Given the description of an element on the screen output the (x, y) to click on. 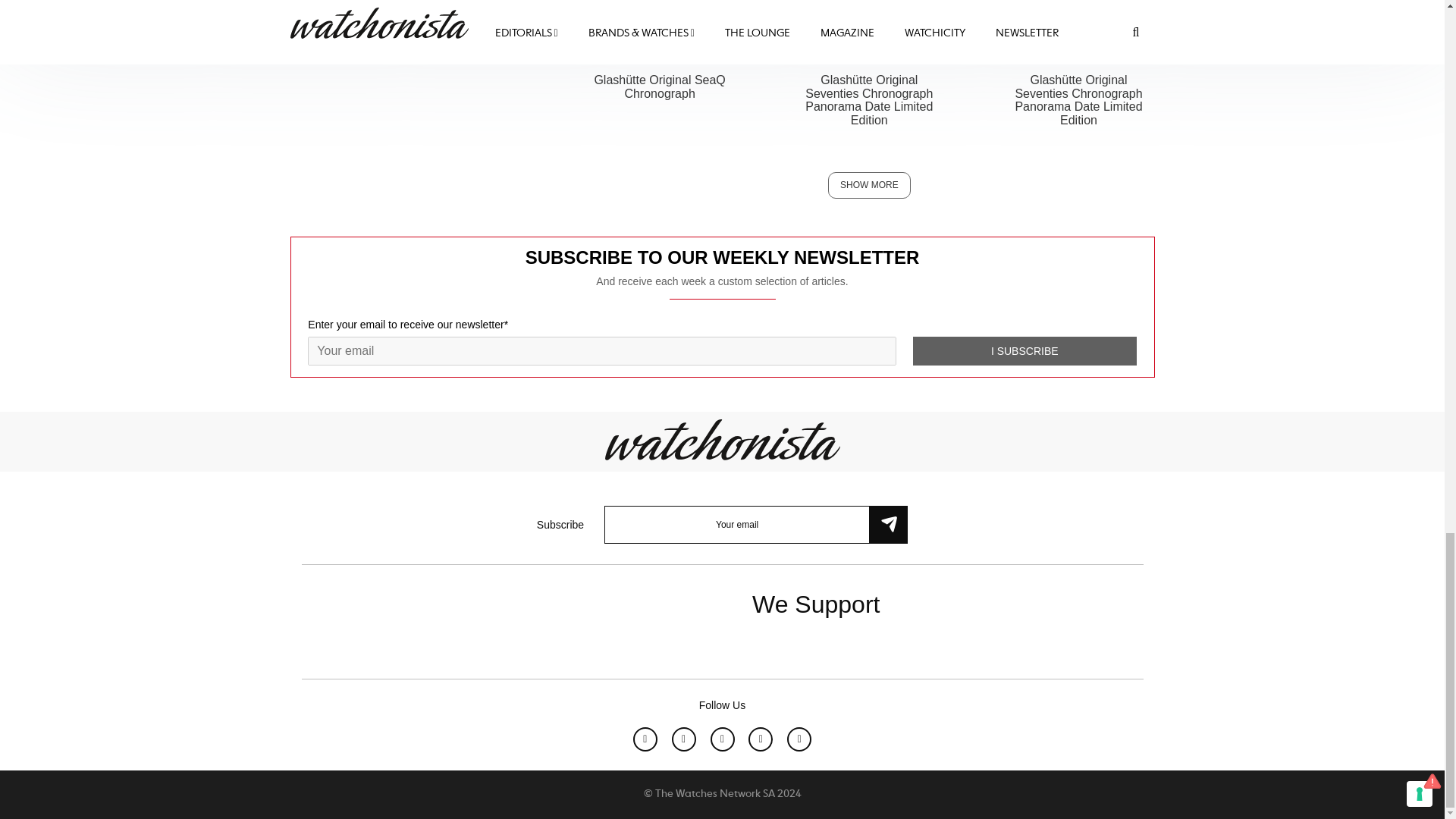
Subscribe (888, 524)
I subscribe (1024, 350)
